Given the description of an element on the screen output the (x, y) to click on. 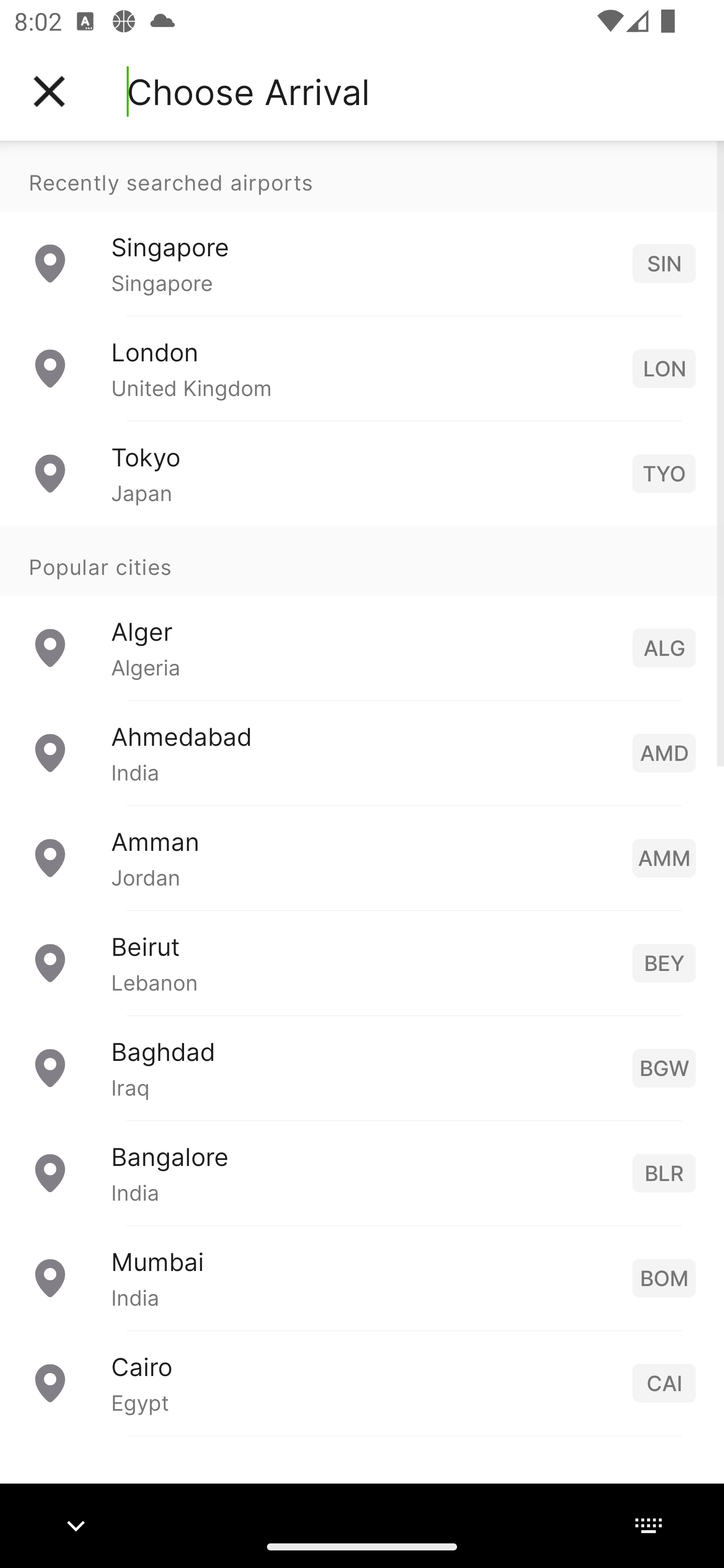
Choose Arrival (247, 91)
Recently searched airports Singapore Singapore SIN (362, 228)
Recently searched airports (362, 176)
London United Kingdom LON (362, 367)
Tokyo Japan TYO (362, 472)
Popular cities Alger Algeria ALG (362, 612)
Popular cities (362, 560)
Ahmedabad India AMD (362, 751)
Amman Jordan AMM (362, 856)
Beirut Lebanon BEY (362, 961)
Baghdad Iraq BGW (362, 1066)
Bangalore India BLR (362, 1171)
Mumbai India BOM (362, 1276)
Cairo Egypt CAI (362, 1381)
